Given the description of an element on the screen output the (x, y) to click on. 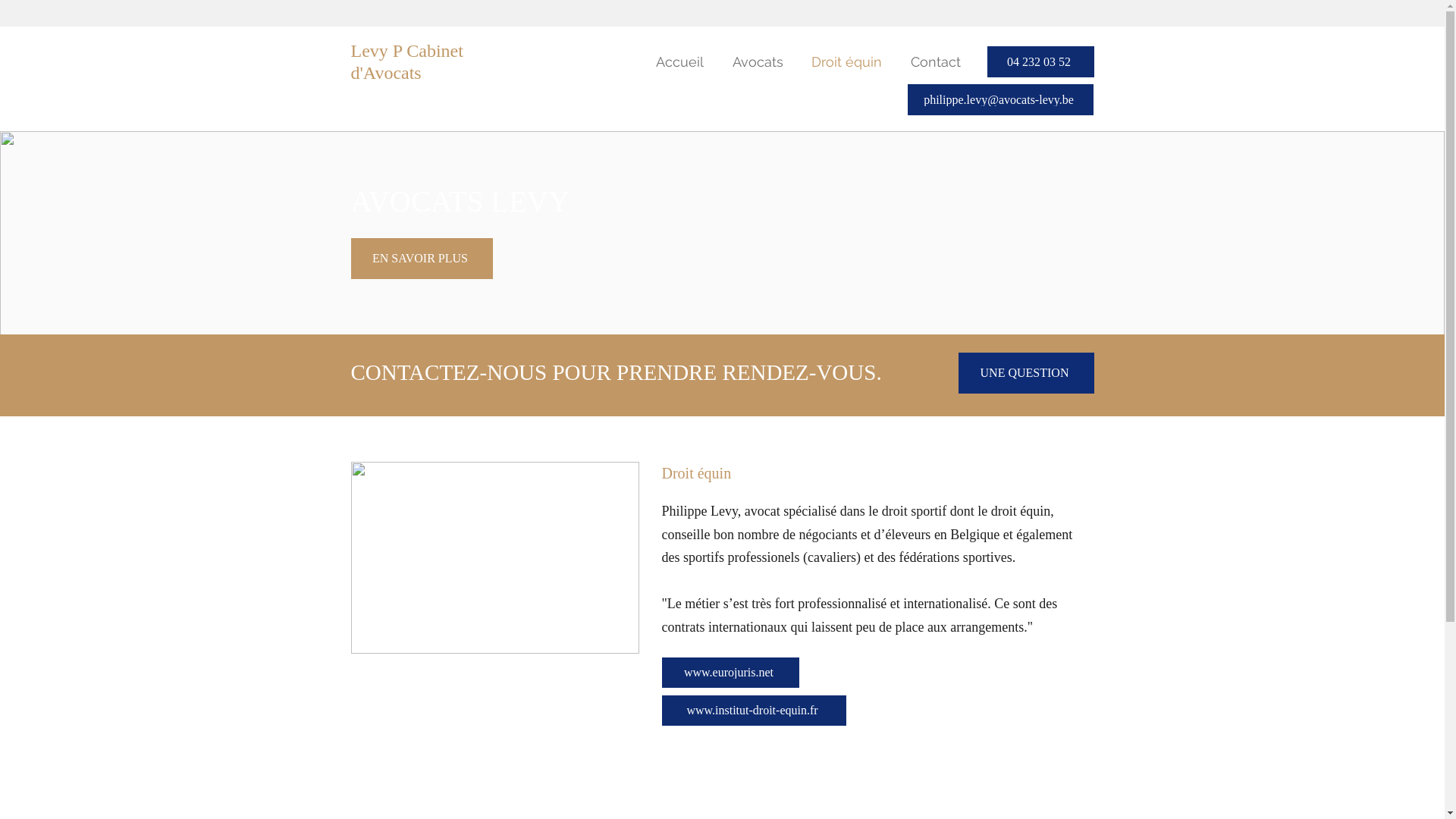
UNE QUESTION Element type: text (1026, 372)
Avocats Element type: text (754, 61)
EN SAVOIR PLUS Element type: text (421, 258)
www.eurojuris.net Element type: text (729, 672)
philippe.levy@avocats-levy.be Element type: text (999, 99)
04 232 03 52 Element type: text (1040, 61)
Contact Element type: text (932, 61)
Accueil Element type: text (676, 61)
www.institut-droit-equin.fr Element type: text (753, 710)
Levy P Cabinet d'Avocats Element type: text (406, 61)
